Given the description of an element on the screen output the (x, y) to click on. 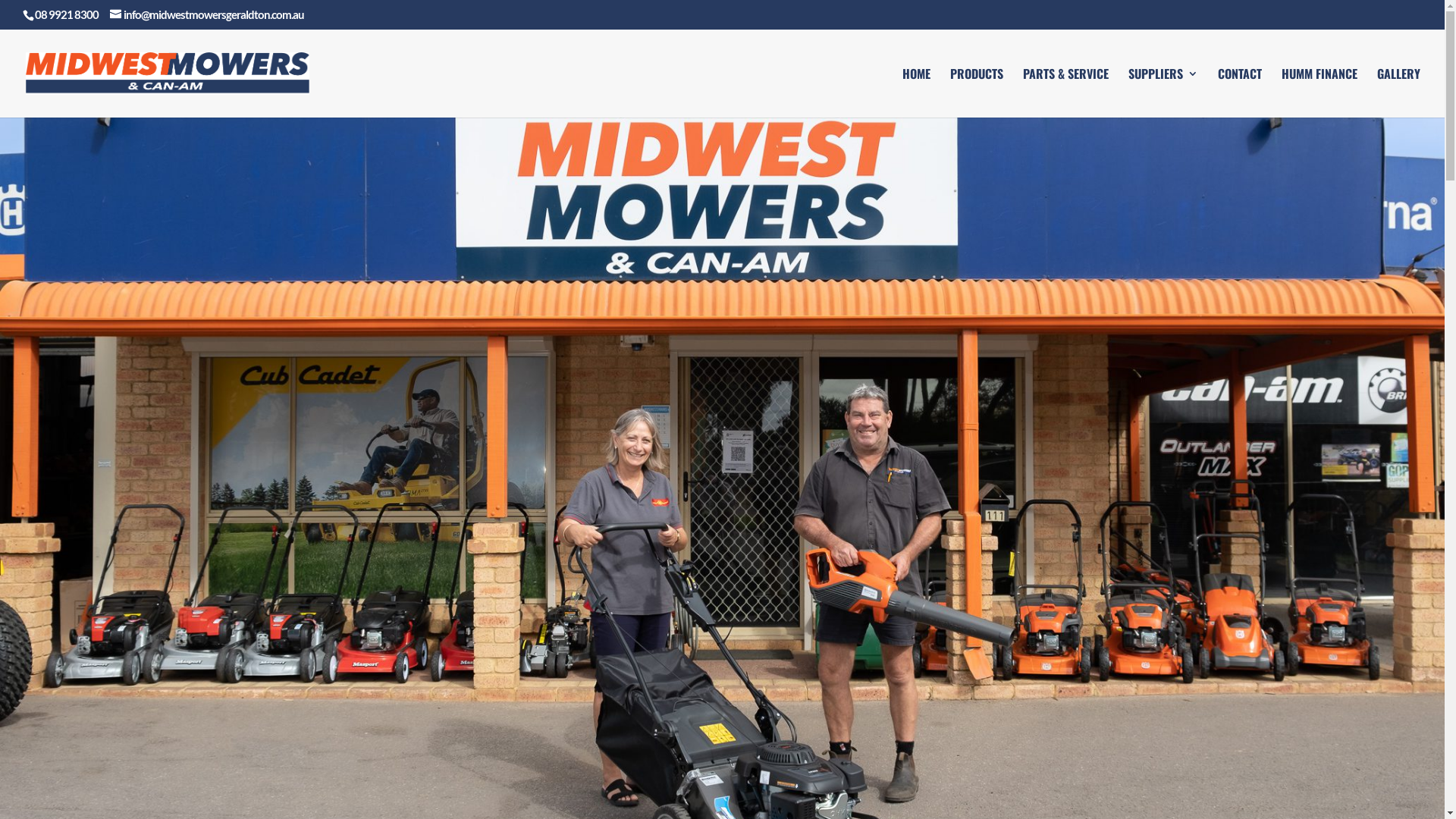
info@midwestmowersgeraldton.com.au Element type: text (206, 14)
GALLERY Element type: text (1398, 92)
PRODUCTS Element type: text (976, 92)
SUPPLIERS Element type: text (1163, 92)
PARTS & SERVICE Element type: text (1065, 92)
CONTACT Element type: text (1239, 92)
HOME Element type: text (916, 92)
HUMM FINANCE Element type: text (1319, 92)
